Given the description of an element on the screen output the (x, y) to click on. 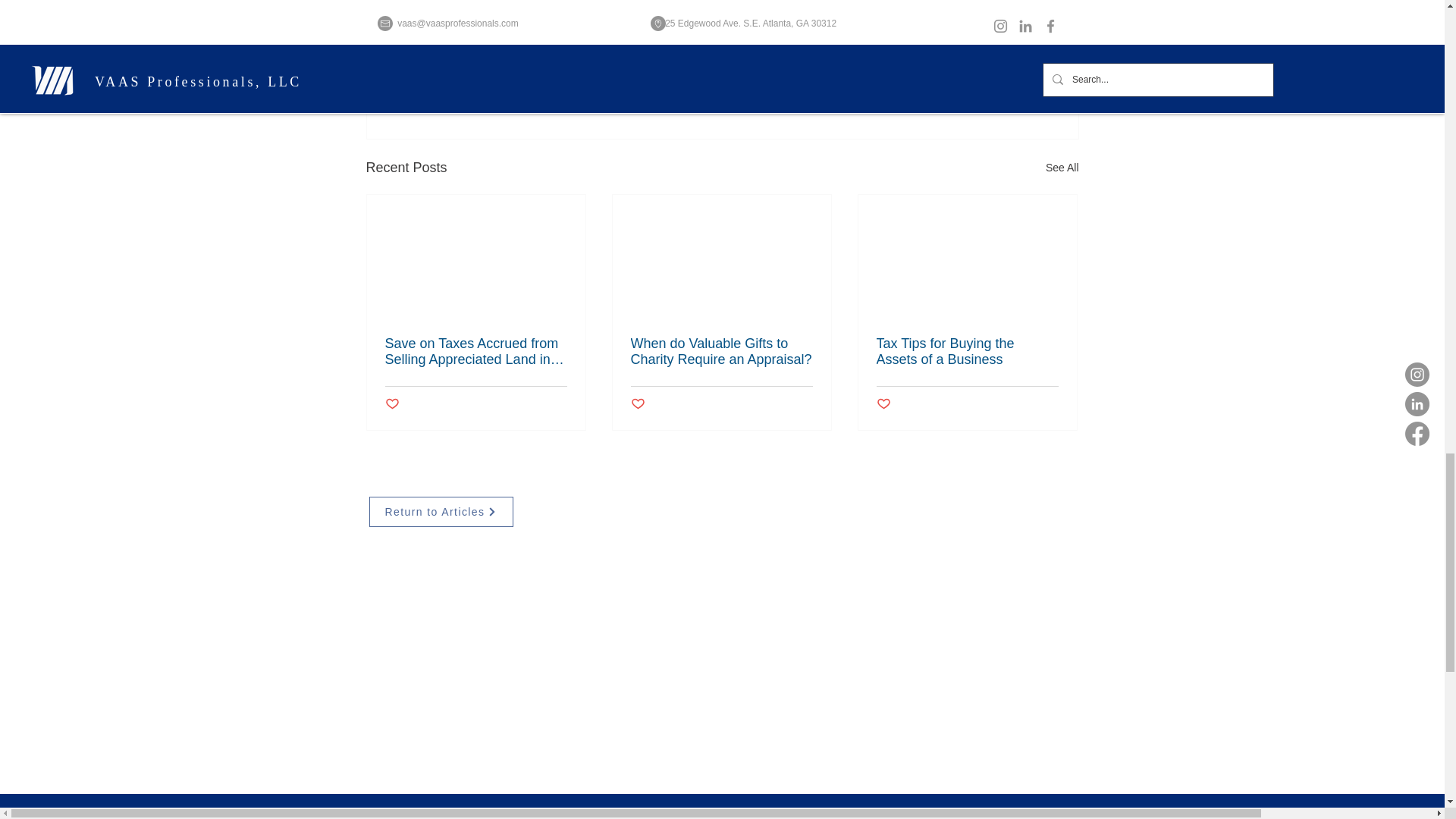
Post not marked as liked (883, 404)
Taxes (829, 39)
Tax Tips for Buying the Assets of a Business (967, 351)
Post not marked as liked (637, 404)
Work Life (980, 39)
Post not marked as liked (995, 84)
See All (1061, 168)
Post not marked as liked (391, 404)
Business Owners (901, 39)
When do Valuable Gifts to Charity Require an Appraisal? (721, 351)
